Given the description of an element on the screen output the (x, y) to click on. 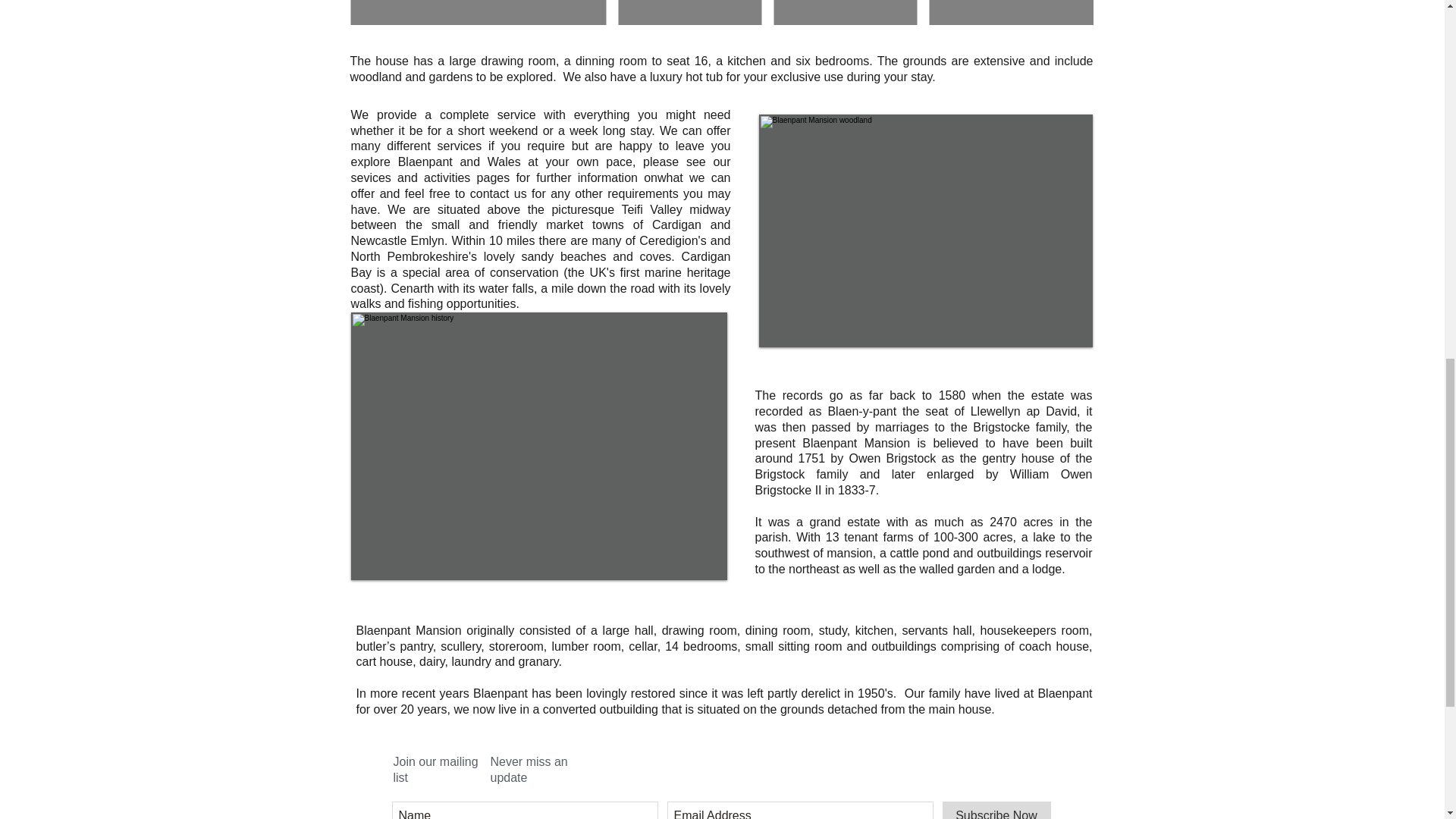
Blaenpant frontage treethings larger.jpg (538, 445)
No Frame (925, 230)
Subscribe Now (995, 810)
Webmaster Login (1047, 106)
